Given the description of an element on the screen output the (x, y) to click on. 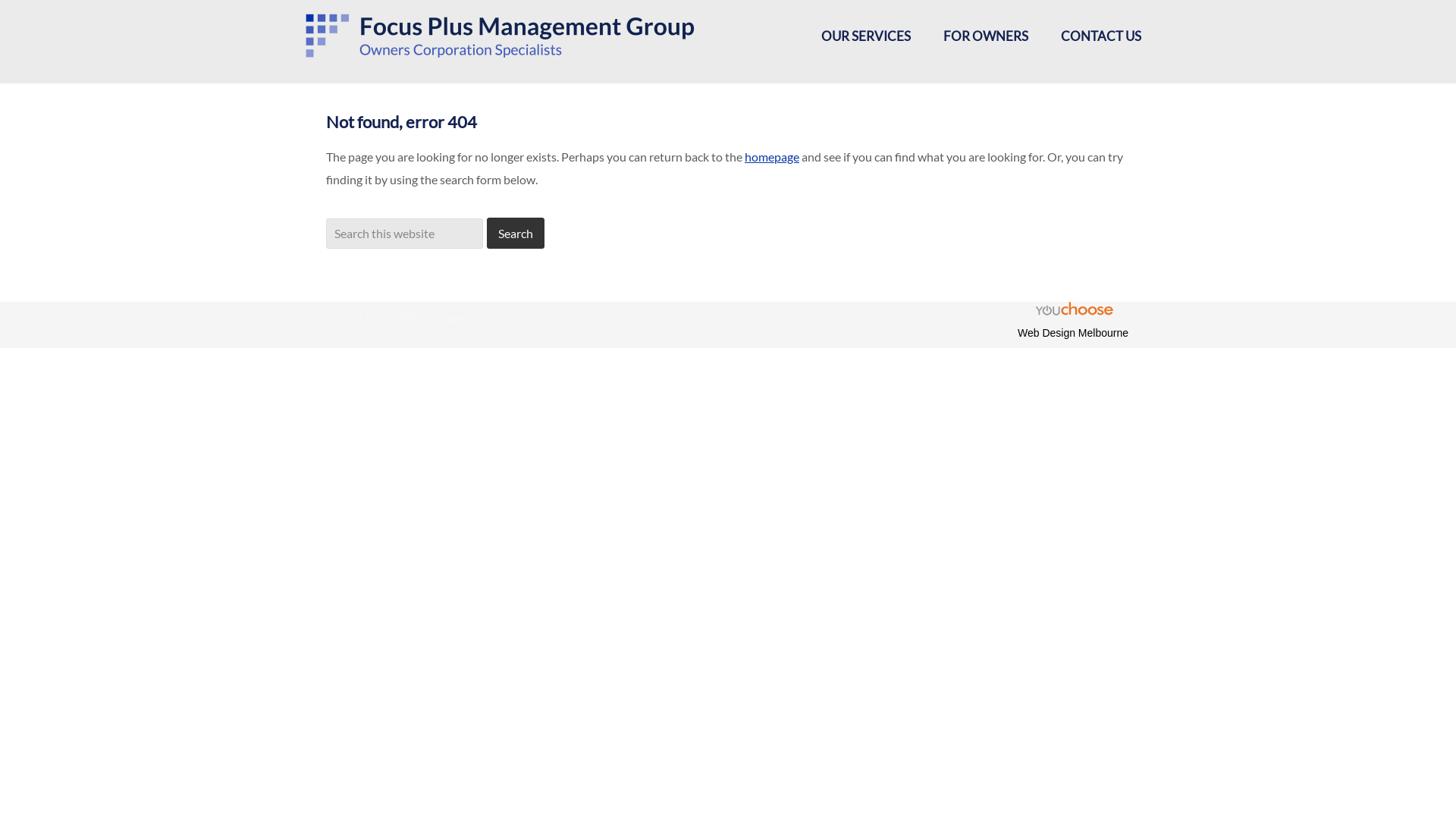
Search Element type: text (515, 232)
CONTACT US Element type: text (1100, 35)
homepage Element type: text (771, 156)
OUR SERVICES Element type: text (869, 35)
Web Design Melbourne Element type: text (1072, 332)
FOR OWNERS Element type: text (989, 35)
Focus Plus Management Group Element type: text (509, 41)
